Given the description of an element on the screen output the (x, y) to click on. 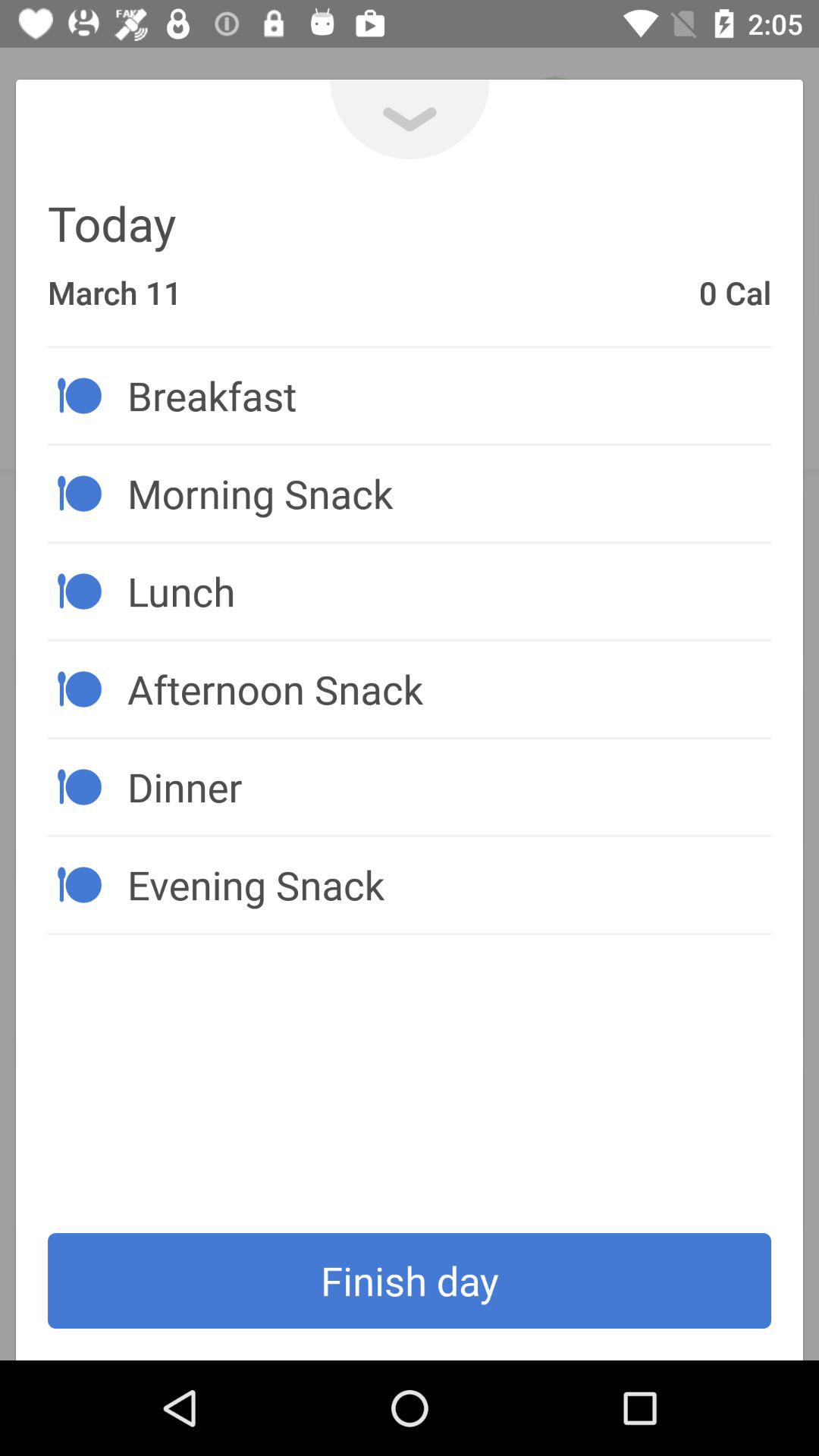
click icon above the morning snack item (449, 395)
